Given the description of an element on the screen output the (x, y) to click on. 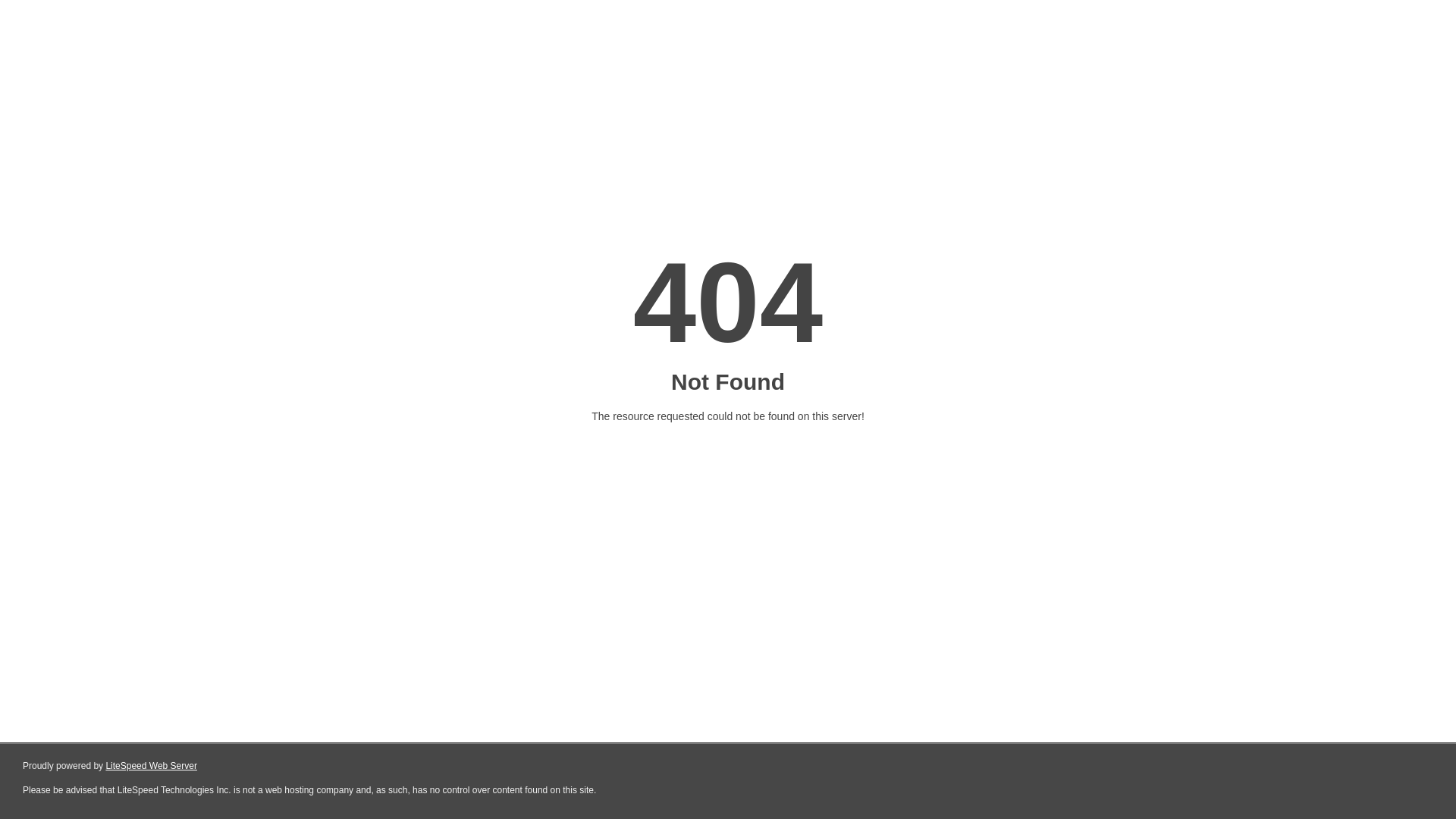
LiteSpeed Web Server Element type: text (151, 765)
